Given the description of an element on the screen output the (x, y) to click on. 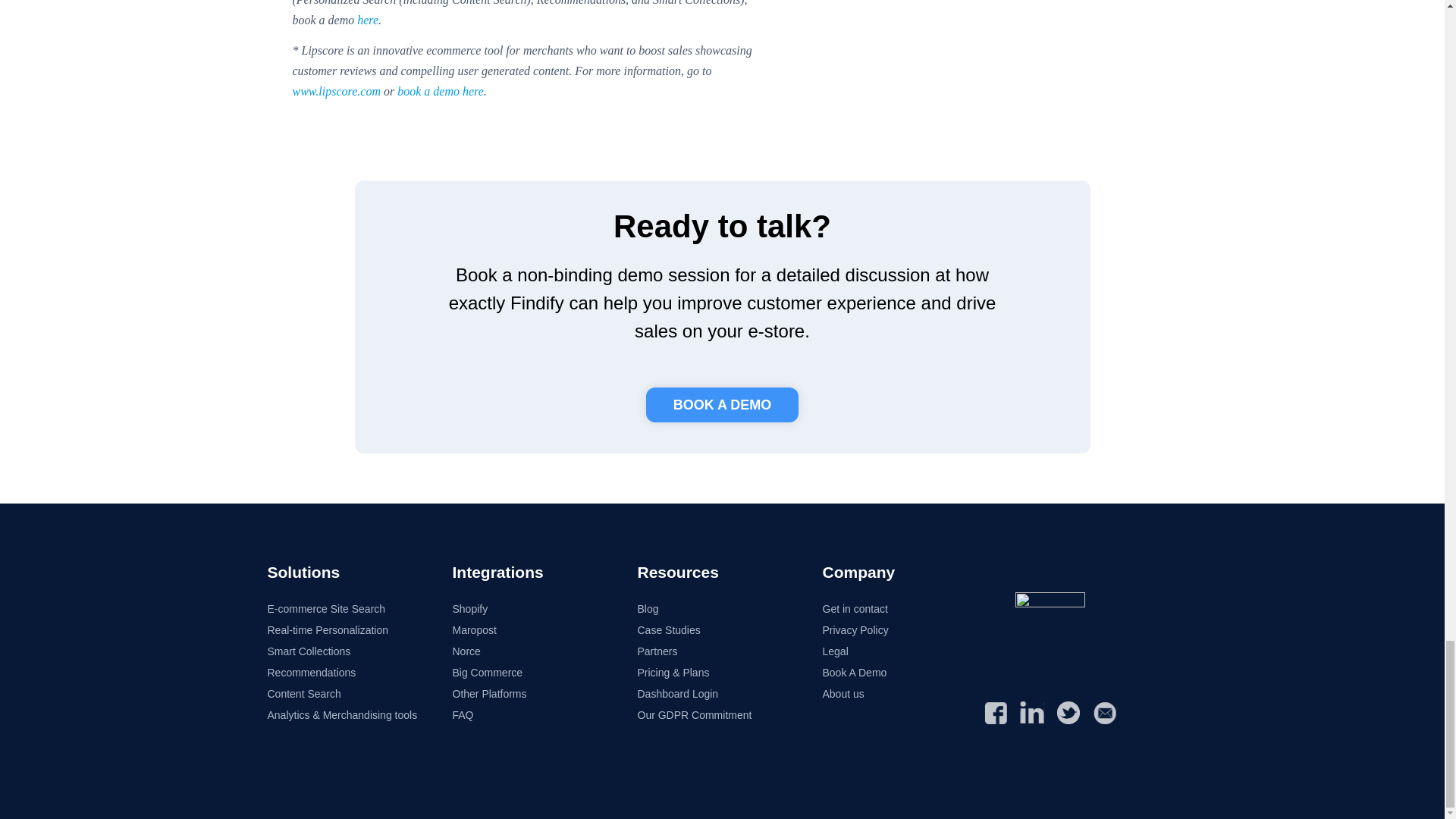
email-logo (1104, 712)
facebook-logo (994, 712)
instagram-logo (1031, 712)
twitter-logo (1067, 712)
